Given the description of an element on the screen output the (x, y) to click on. 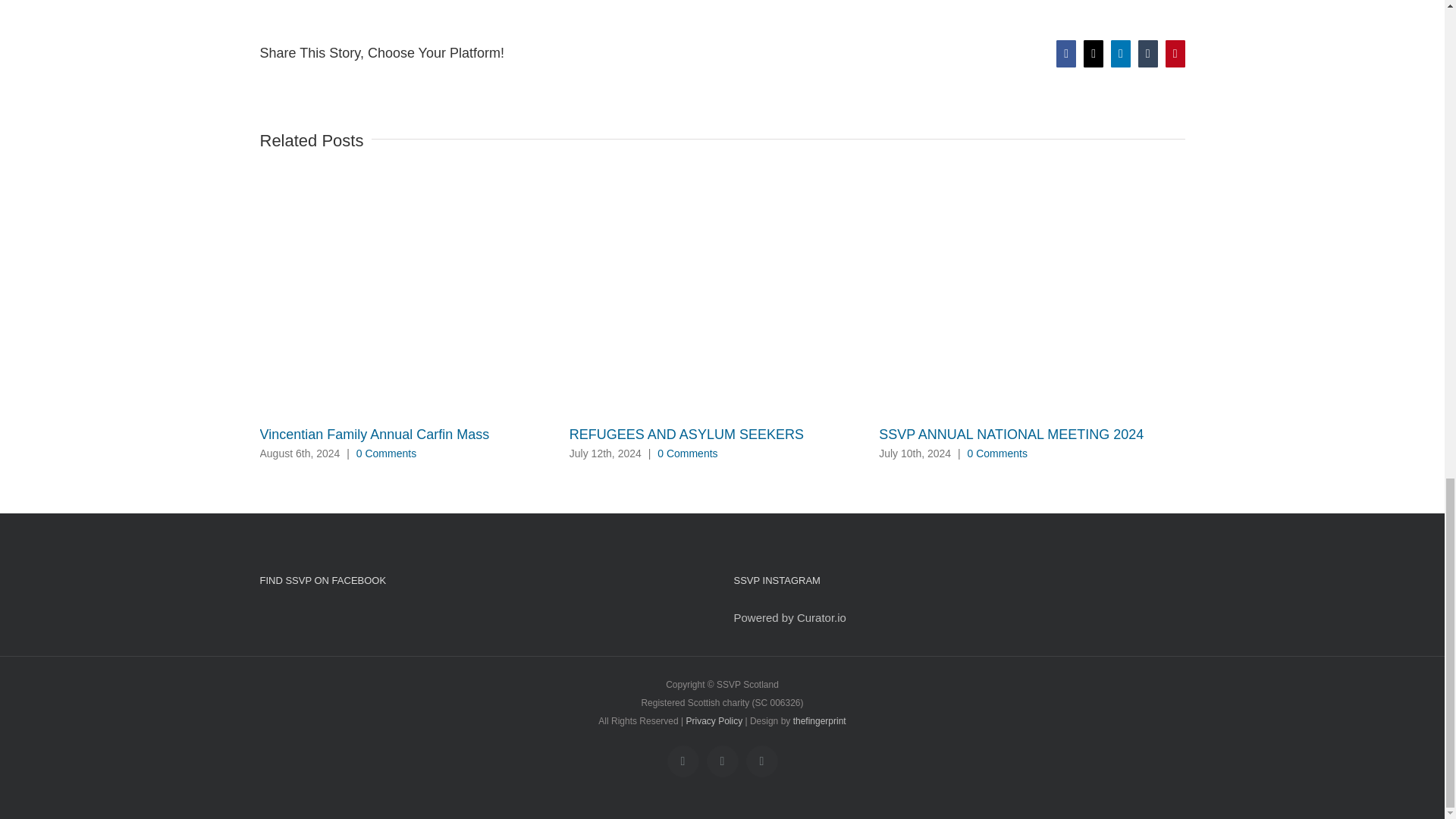
Vincentian Family Annual Carfin Mass (374, 434)
SSVP ANNUAL NATIONAL MEETING 2024 (1010, 434)
REFUGEES AND ASYLUM SEEKERS (686, 434)
